Given the description of an element on the screen output the (x, y) to click on. 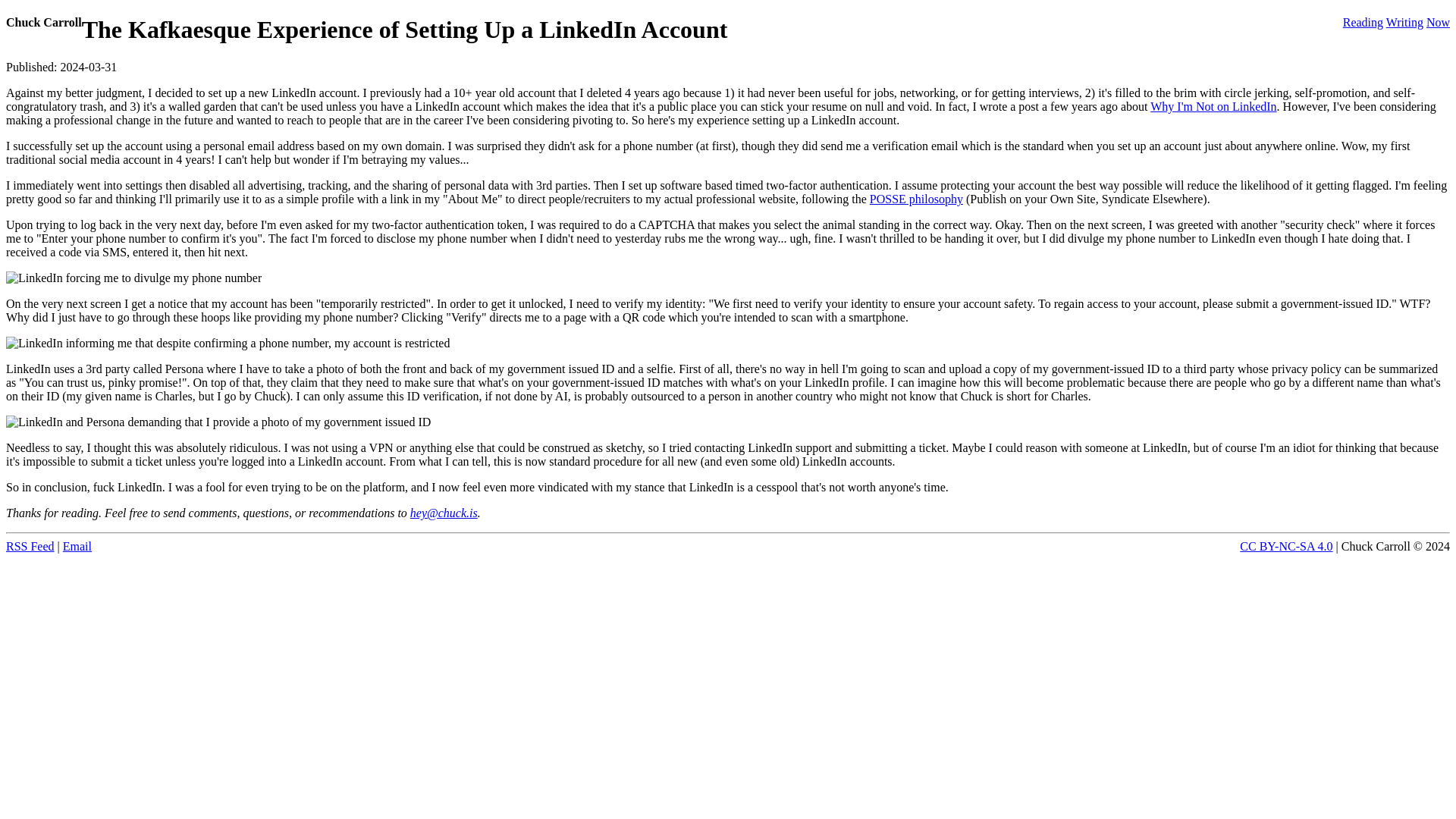
Chuck Carroll (43, 21)
Why I'm Not on LinkedIn (1213, 106)
POSSE philosophy (915, 198)
Reading (1362, 21)
Writing (1404, 21)
